Given the description of an element on the screen output the (x, y) to click on. 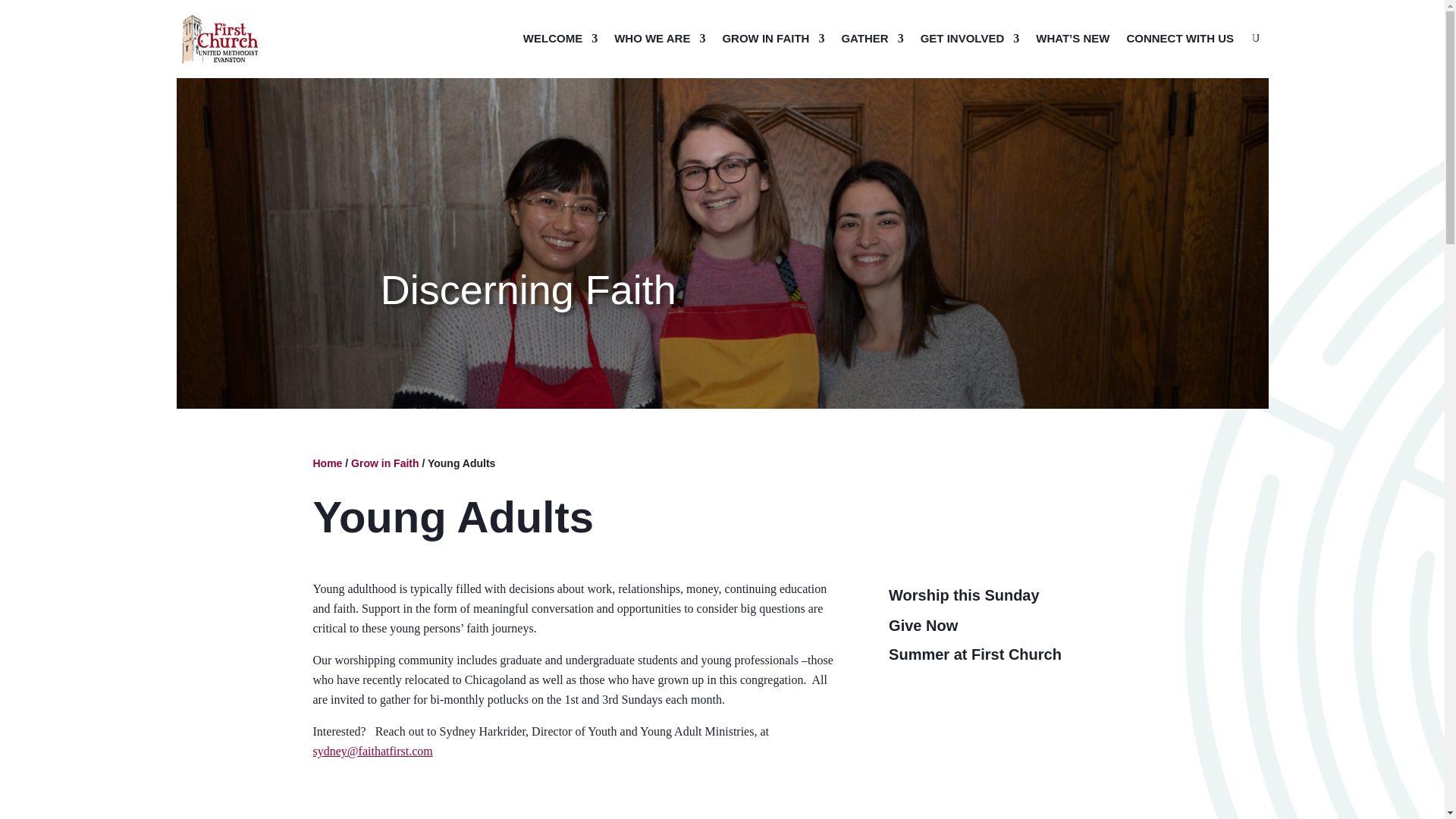
GROW IN FAITH (773, 38)
GATHER (871, 38)
WHO WE ARE (659, 38)
WELCOME (559, 38)
CONNECT WITH US (1179, 38)
GET INVOLVED (970, 38)
